Given the description of an element on the screen output the (x, y) to click on. 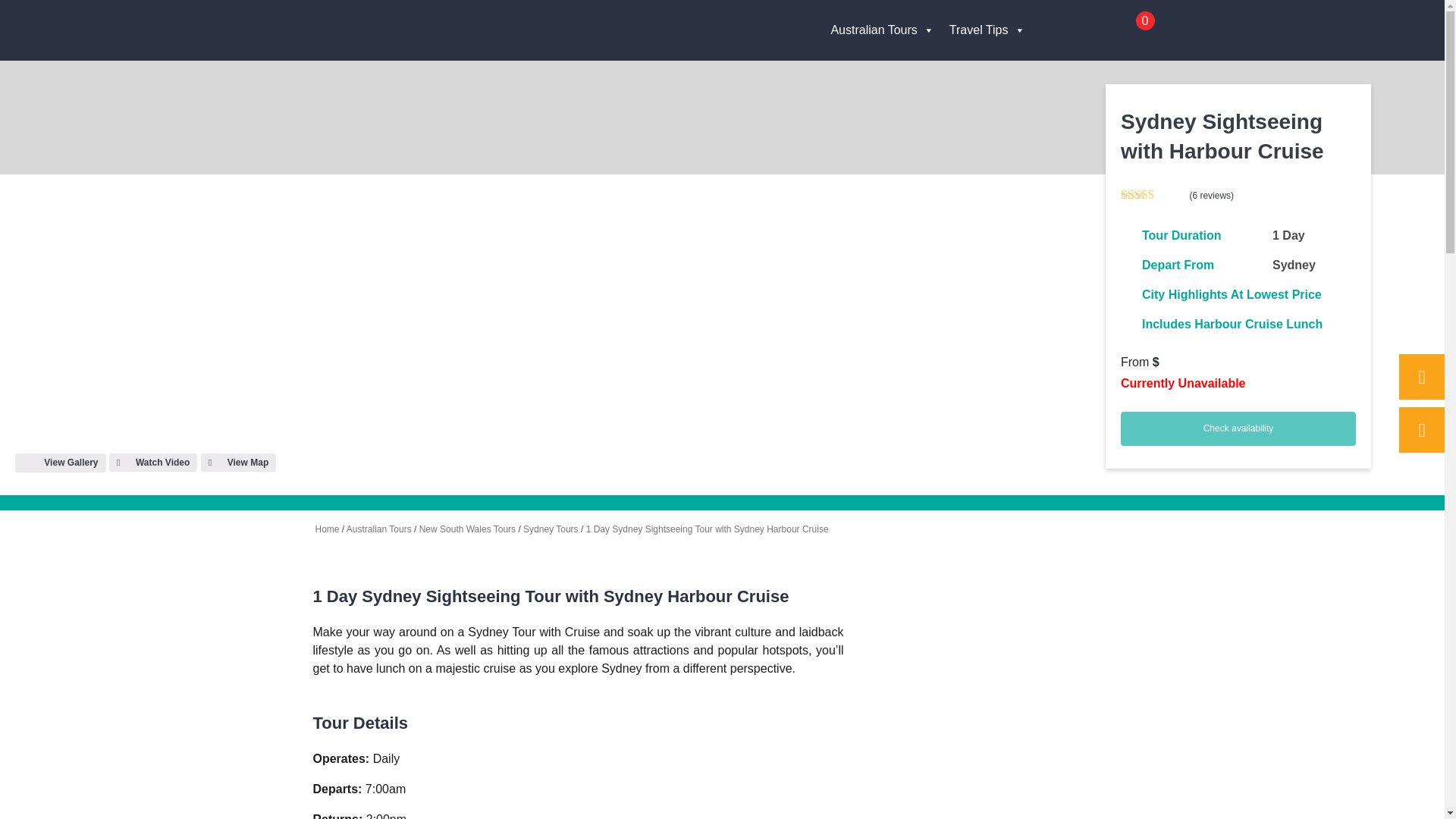
Open Gallery (60, 462)
Open Map (238, 462)
Australian Tours (881, 30)
1 Day Sydney Sightseeing Tour with Harbour Cruise (152, 462)
